Given the description of an element on the screen output the (x, y) to click on. 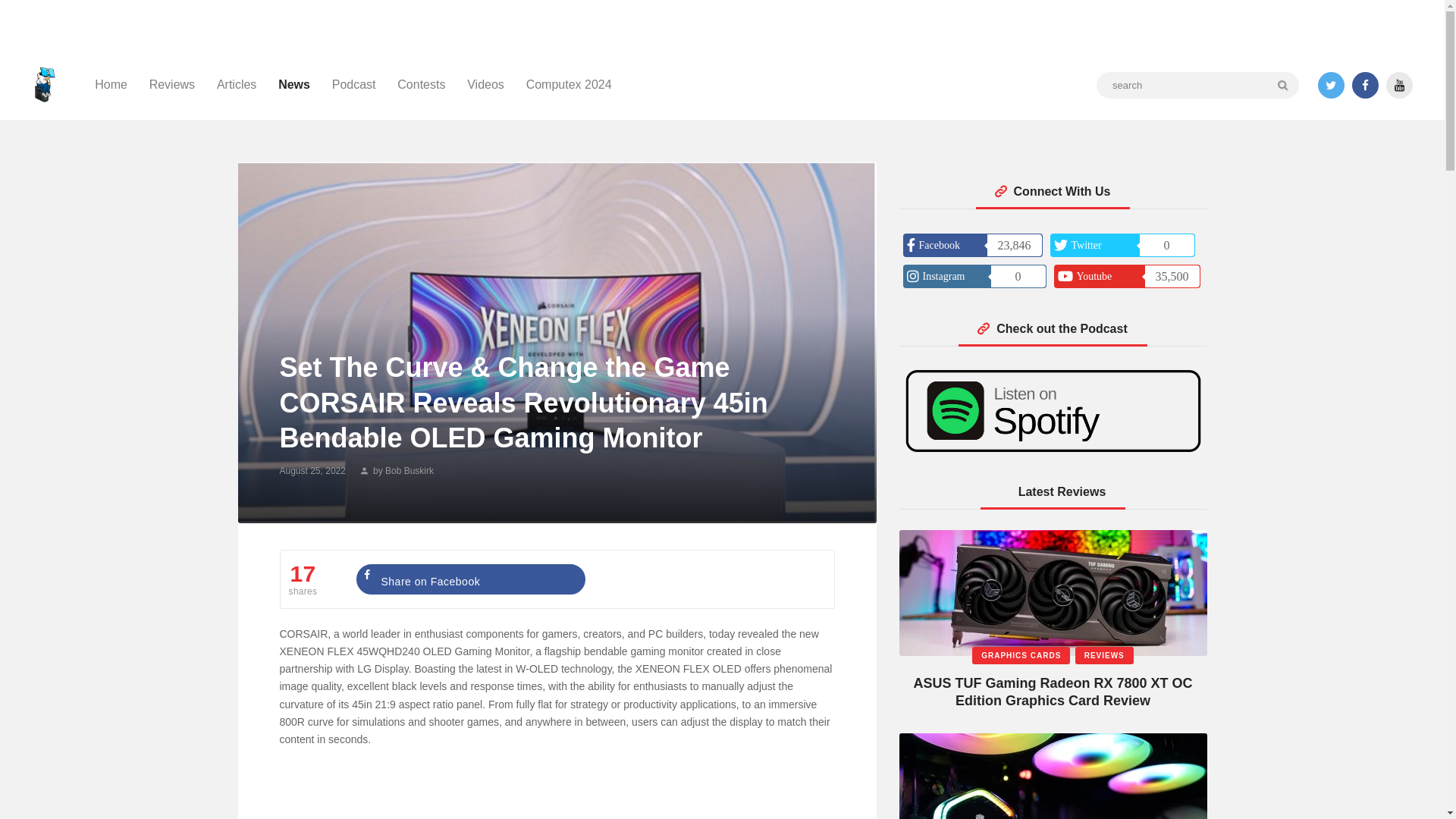
Share on X (703, 579)
Articles (236, 85)
News (294, 85)
Share on Facebook (470, 579)
Home (111, 85)
Reviews (171, 85)
